Given the description of an element on the screen output the (x, y) to click on. 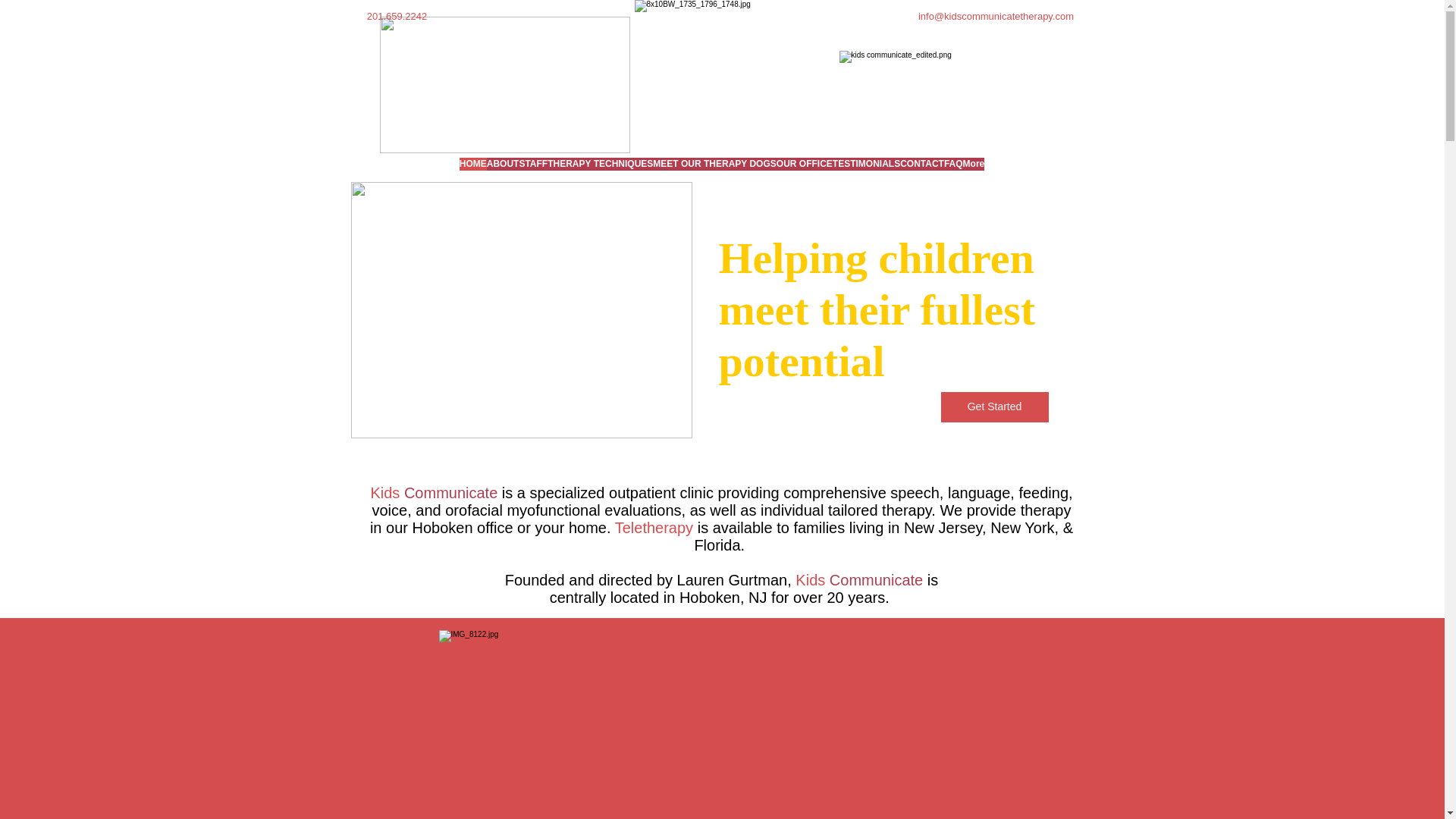
ABOUT (502, 169)
THERAPY TECHNIQUES (599, 169)
HOME (473, 169)
OUR OFFICE (804, 169)
STAFF (532, 169)
Get Started (994, 407)
MEET OUR THERAPY DOGS (714, 169)
CONTACT (921, 169)
TESTIMONIALS (865, 169)
